Given the description of an element on the screen output the (x, y) to click on. 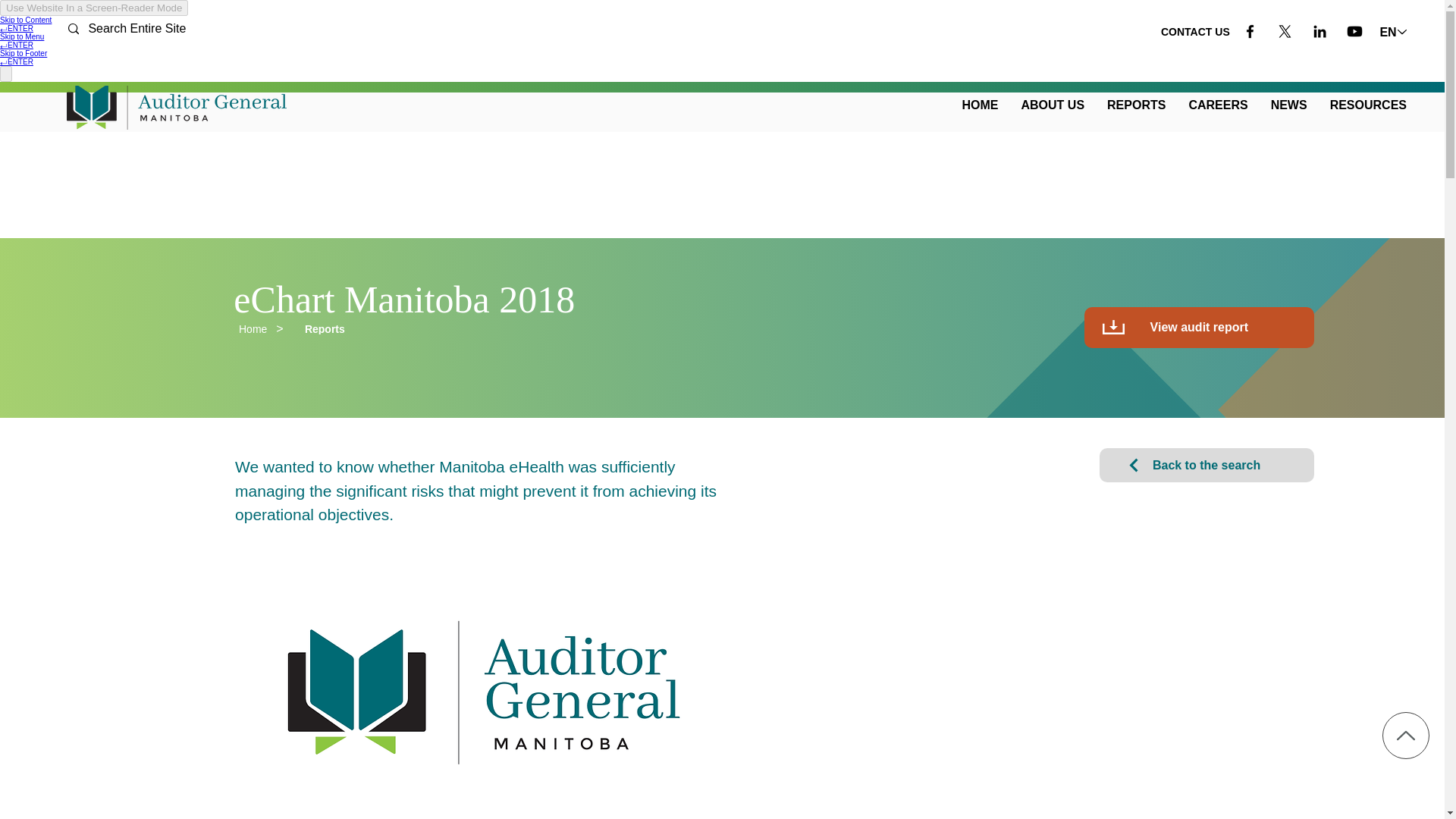
HOME (978, 104)
Back to the search (1206, 464)
AGM-Generic-Report.png (483, 684)
Reports (324, 328)
View audit report (1199, 327)
REPORTS (1136, 104)
CONTACT US (1195, 31)
NEWS (1289, 104)
Home (252, 328)
ABOUT US (1052, 104)
CAREERS (1217, 104)
